Given the description of an element on the screen output the (x, y) to click on. 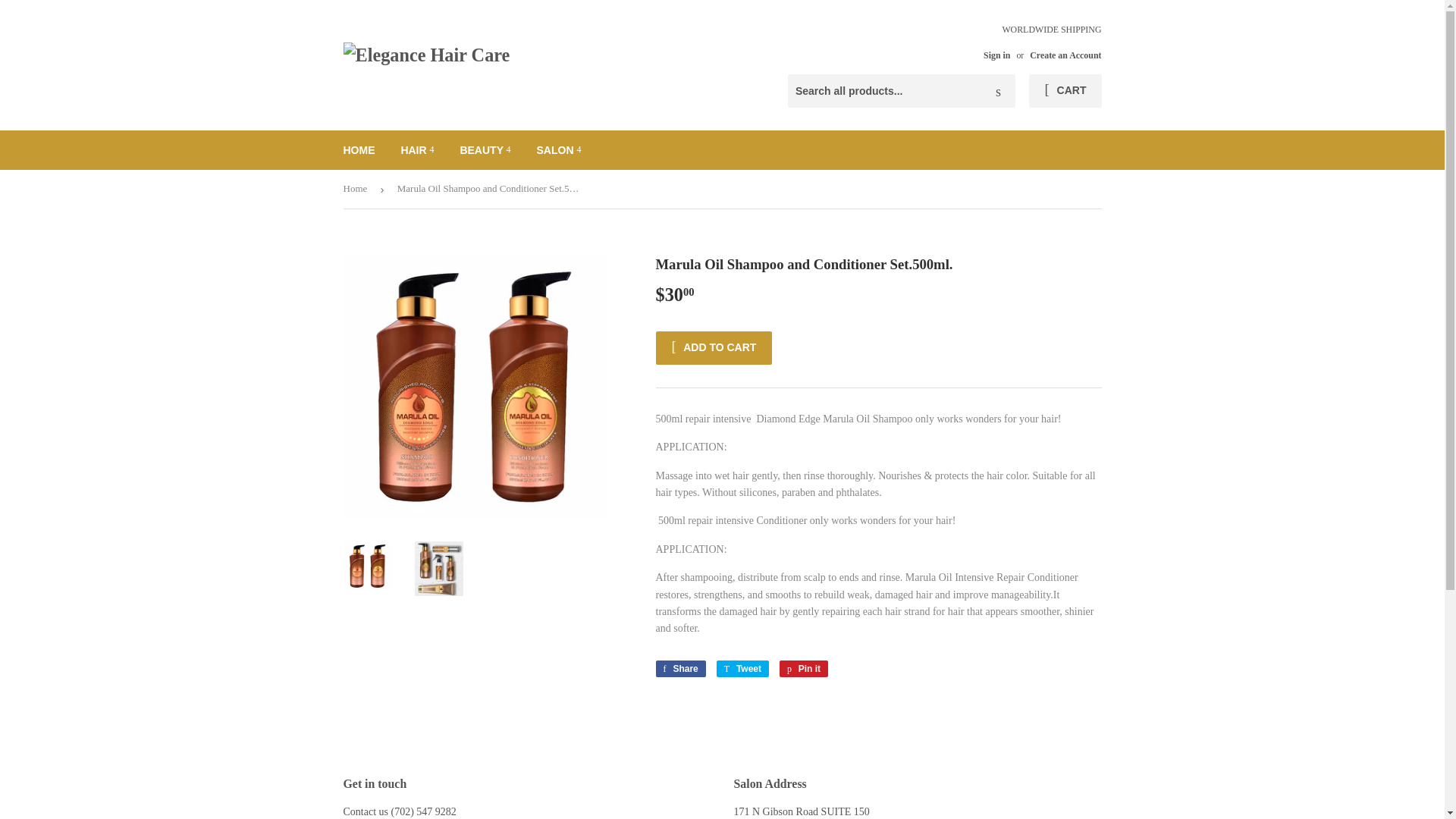
CART (1064, 90)
Share on Facebook (679, 668)
Pin on Pinterest (803, 668)
Create an Account (1064, 54)
Search (997, 91)
Sign in (997, 54)
Tweet on Twitter (742, 668)
